Given the description of an element on the screen output the (x, y) to click on. 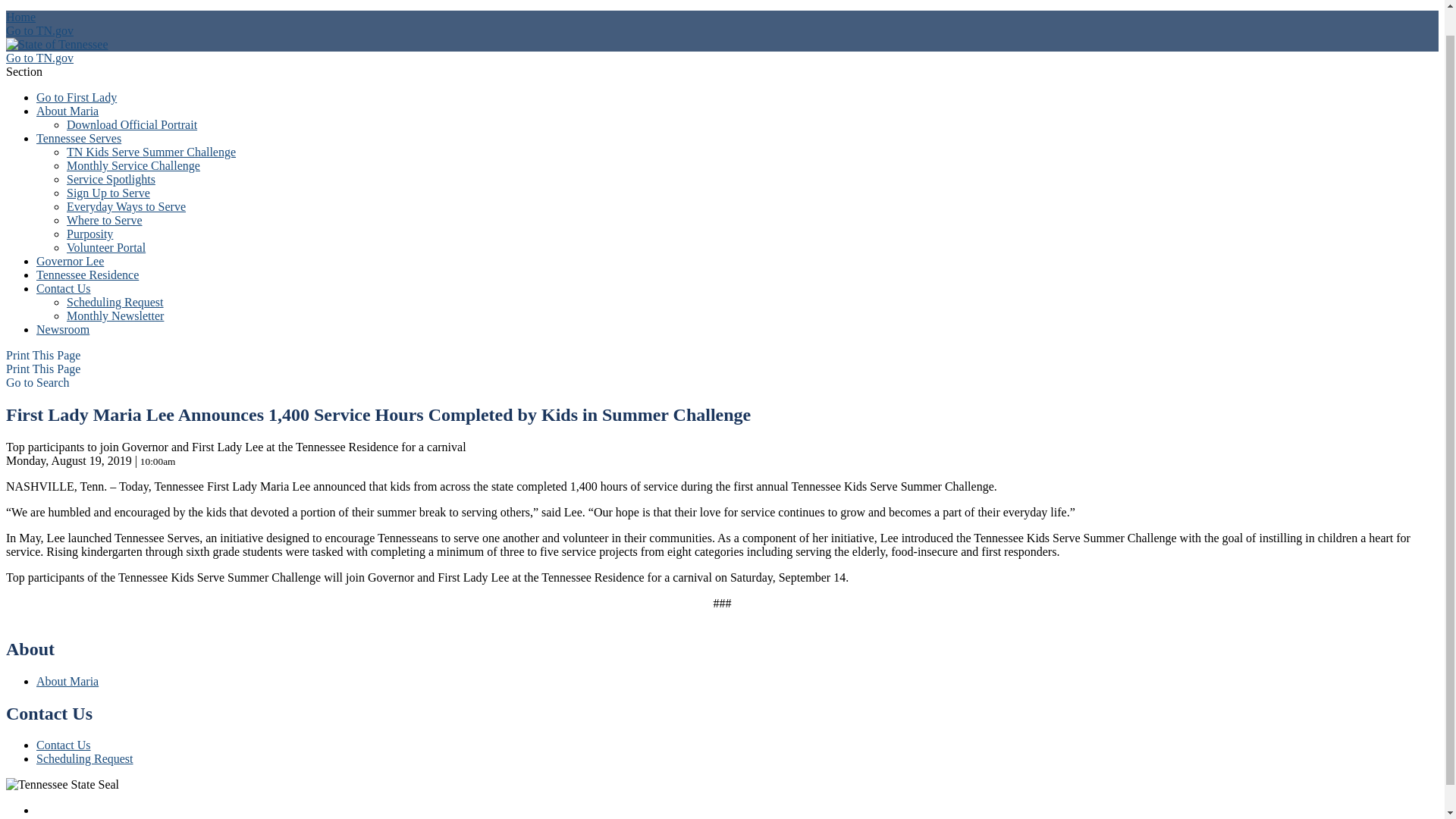
Everyday Ways to Serve (126, 205)
Scheduling Request (114, 301)
Governor Lee (69, 260)
Tennessee Serves (78, 137)
Service Spotlights (110, 178)
About Maria (67, 110)
Print This Page (42, 354)
Go to TN.gov (39, 57)
Volunteer Portal (105, 246)
Go to TN.gov (39, 30)
